Given the description of an element on the screen output the (x, y) to click on. 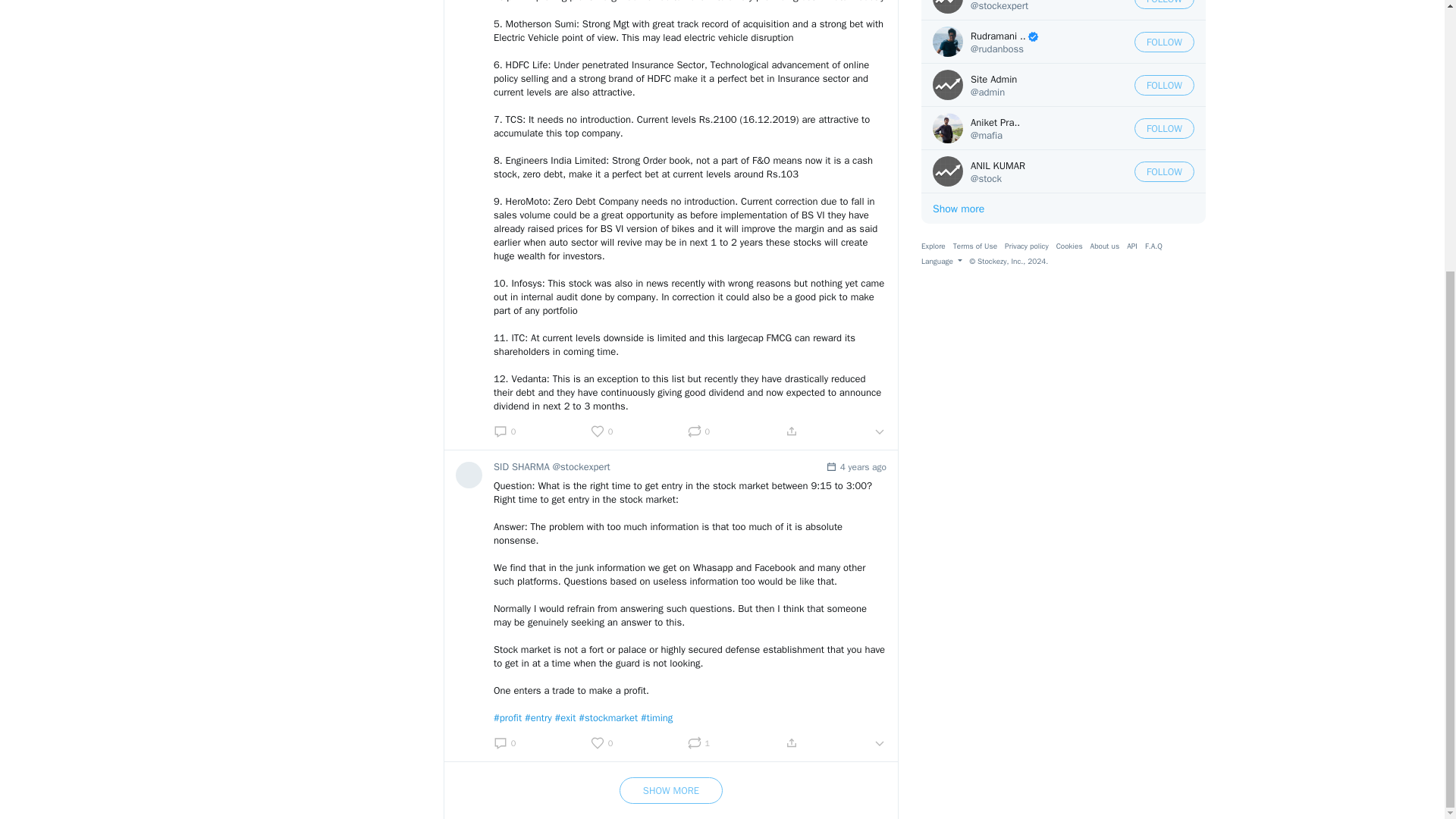
0 (698, 431)
0 (601, 431)
0 (504, 431)
